Given the description of an element on the screen output the (x, y) to click on. 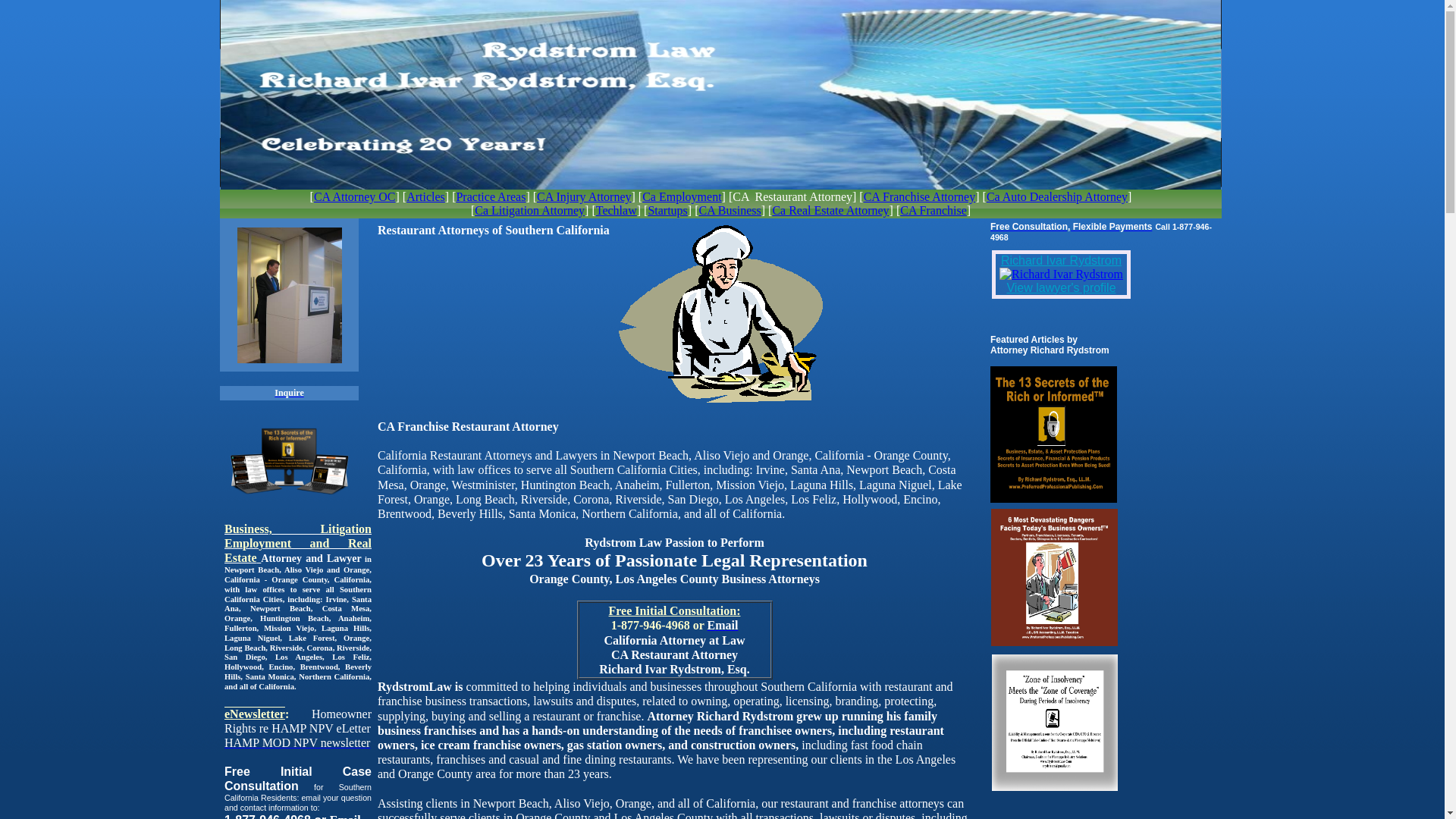
Ca Real Estate Attorney Element type: text (829, 209)
Ca Litigation Attorney Element type: text (529, 209)
Zone of Insolvency Ajpg Element type: hover (1054, 722)
Practice Areas Element type: text (490, 196)
asset protection plans 13 secrets of rich or informed Element type: hover (1053, 434)
View lawyer's profile Element type: text (1060, 287)
Ca Auto Dealership Attorney Element type: text (1056, 196)
CA Franchise Attorney Element type: text (919, 196)
Ca Employment Element type: text (681, 196)
WA_whatyougetF1600 Element type: hover (288, 459)
Email Element type: text (721, 624)
Articles Element type: text (425, 196)
Free Consultation, Flexible Payments Element type: text (1070, 225)
Richard Ivar Rydstrom Element type: text (1061, 260)
CA Injury Attorney Element type: text (583, 196)
HAMP MOD NPV newsletter Element type: text (297, 742)
CA Franchise Element type: text (933, 209)
Techlaw Element type: text (616, 209)
CA Business Element type: text (729, 209)
6 Most Dangers Small Business Master  Cover1jpg Element type: hover (1054, 577)
Startups Element type: text (667, 209)
Inquire Element type: text (288, 392)
CA Attorney OC Element type: text (354, 196)
